Given the description of an element on the screen output the (x, y) to click on. 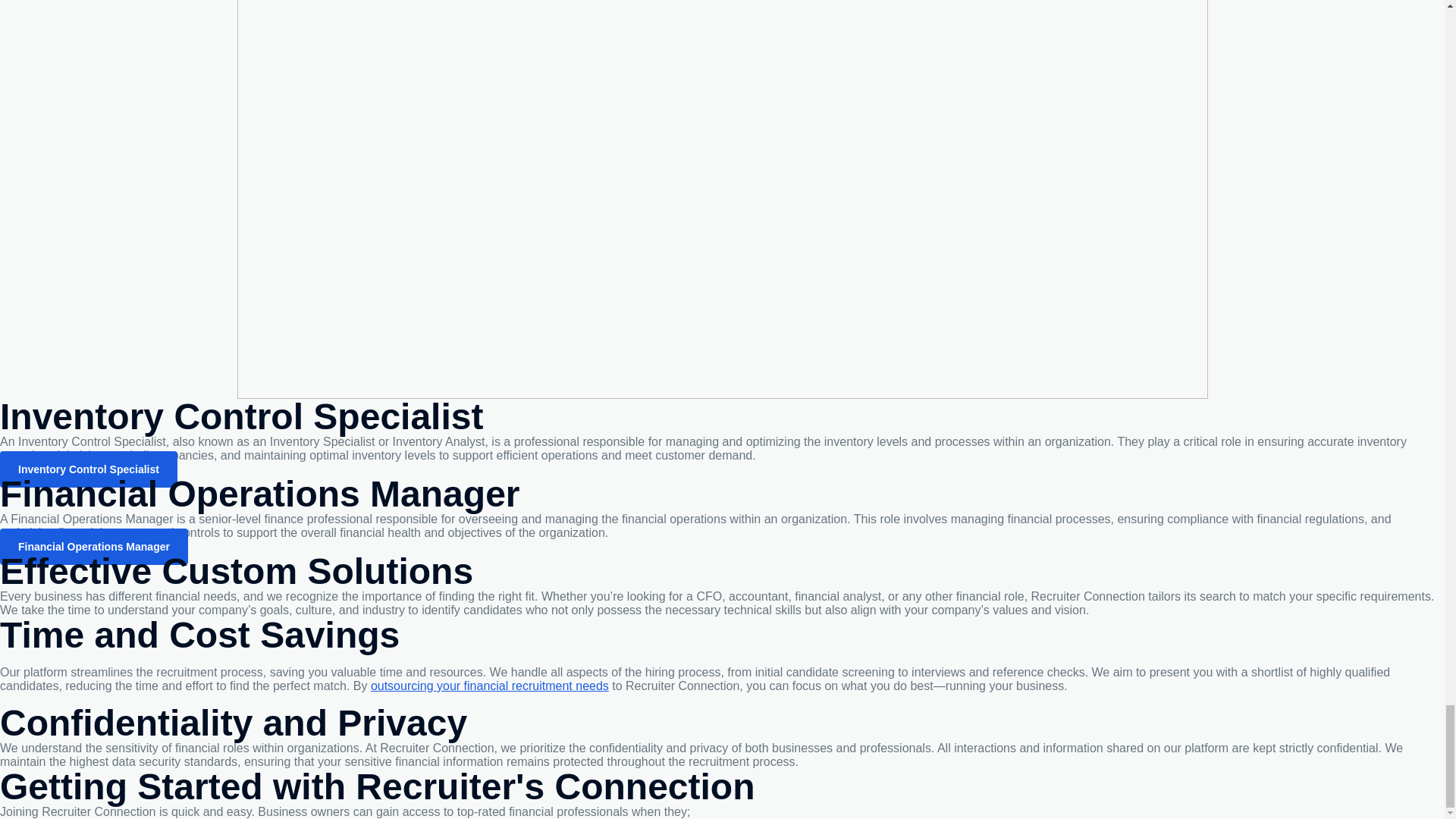
outsourcing your financial recruitment needs (489, 685)
Financial Operations Manager (93, 546)
Inventory Control Specialist (88, 469)
